Given the description of an element on the screen output the (x, y) to click on. 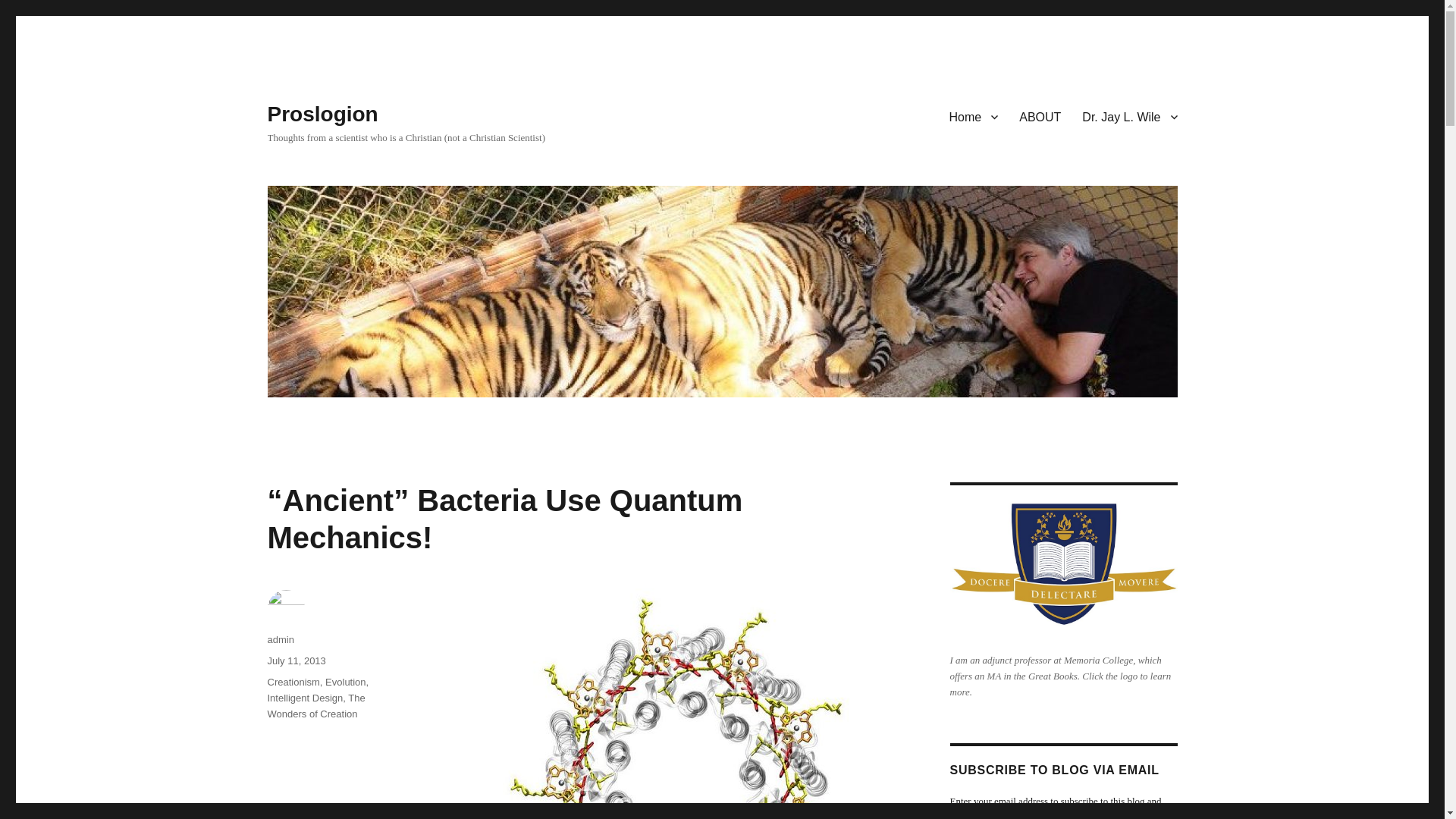
ABOUT (1040, 116)
July 11, 2013 (295, 660)
Evolution (344, 681)
admin (280, 639)
Proslogion (321, 114)
The Wonders of Creation (315, 705)
Creationism (292, 681)
Dr. Jay L. Wile (1129, 116)
Intelligent Design (304, 697)
Home (974, 116)
